Given the description of an element on the screen output the (x, y) to click on. 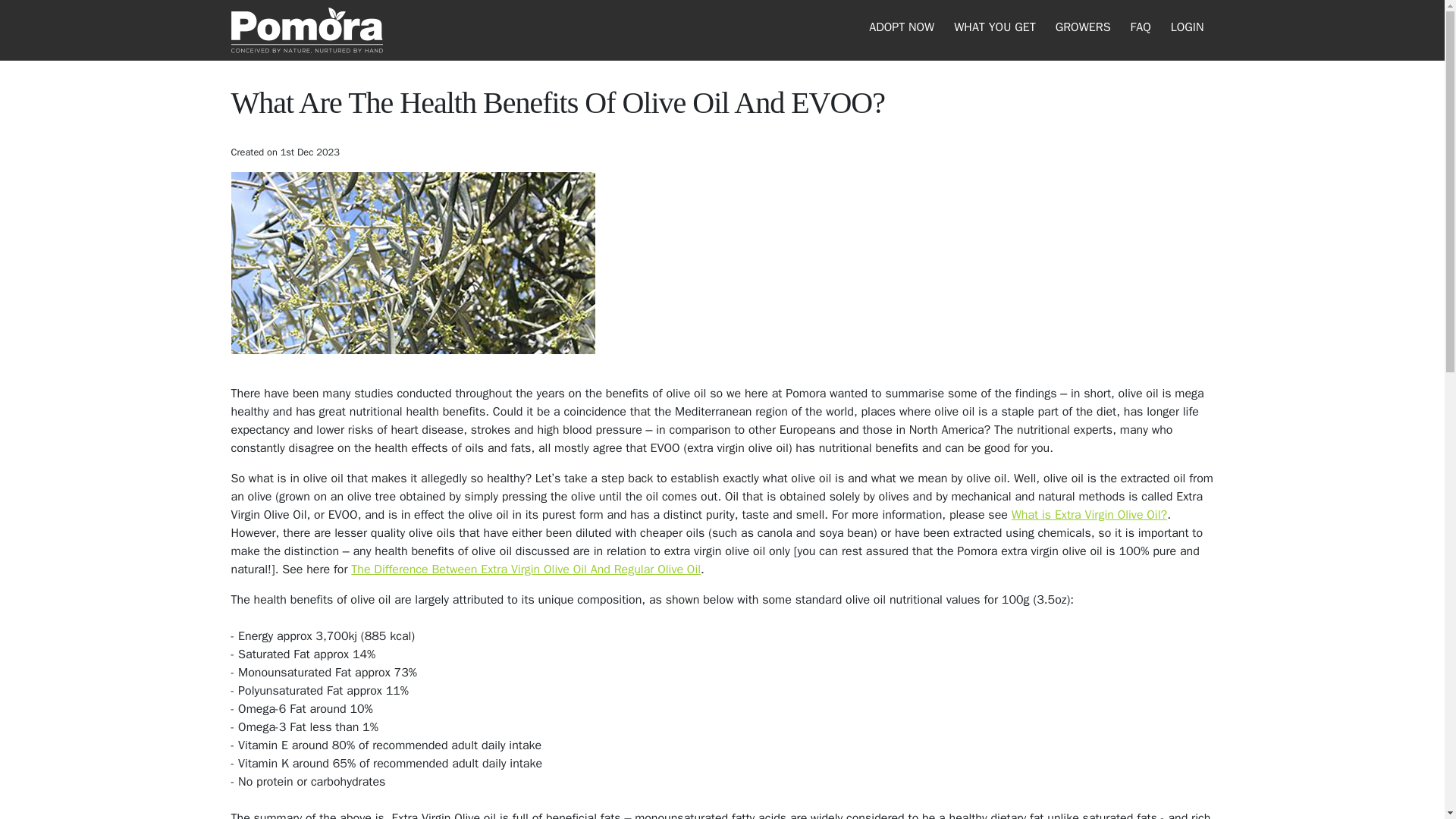
Pomora Logo (305, 30)
GROWERS (1082, 27)
FAQ (1141, 27)
What is Extra Virgin Olive Oil? (1089, 514)
LOGIN (1187, 27)
WHAT YOU GET (994, 27)
ADOPT NOW (901, 27)
